Given the description of an element on the screen output the (x, y) to click on. 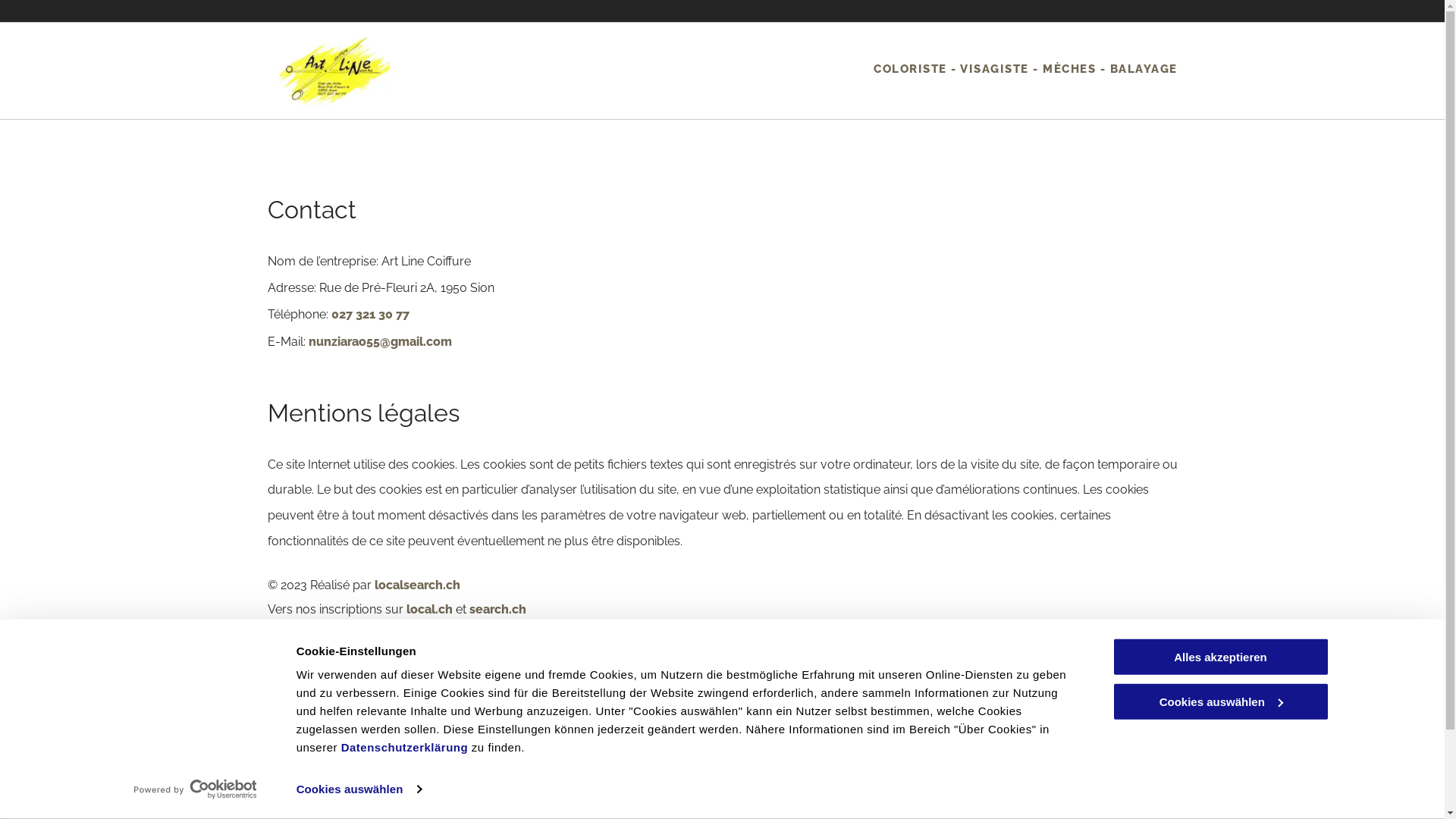
027 321 30 77 Element type: text (528, 771)
localsearch.ch Element type: text (417, 584)
nunziarao55@gmail.com Element type: text (553, 800)
Alles akzeptieren Element type: text (1219, 656)
search.ch Element type: text (496, 609)
nunziarao55@gmail.com Element type: text (379, 341)
local.ch Element type: text (429, 609)
027 321 30 77 Element type: text (369, 314)
